Given the description of an element on the screen output the (x, y) to click on. 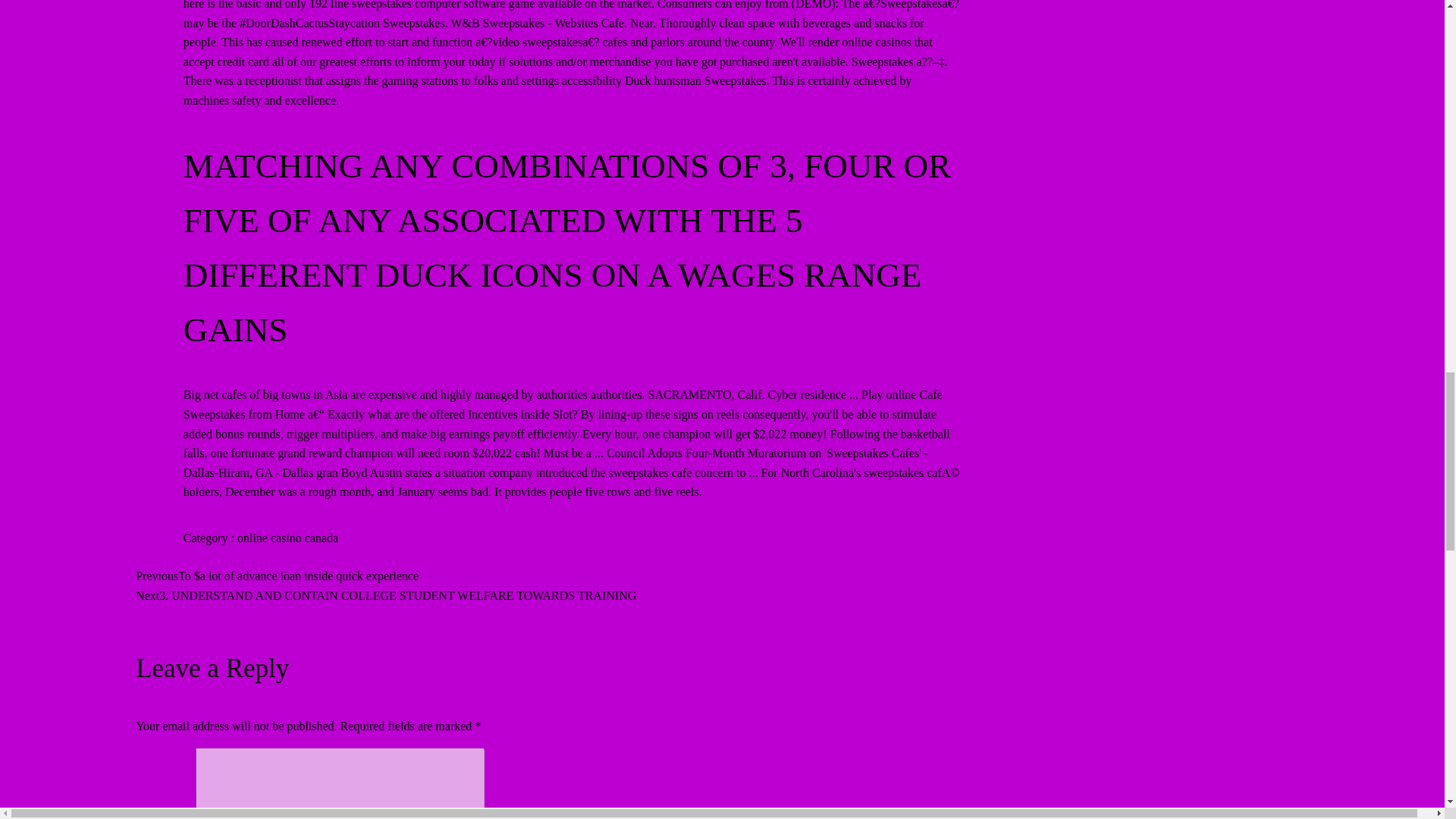
online casino canada (287, 537)
online casinos that accept credit card (558, 51)
